Given the description of an element on the screen output the (x, y) to click on. 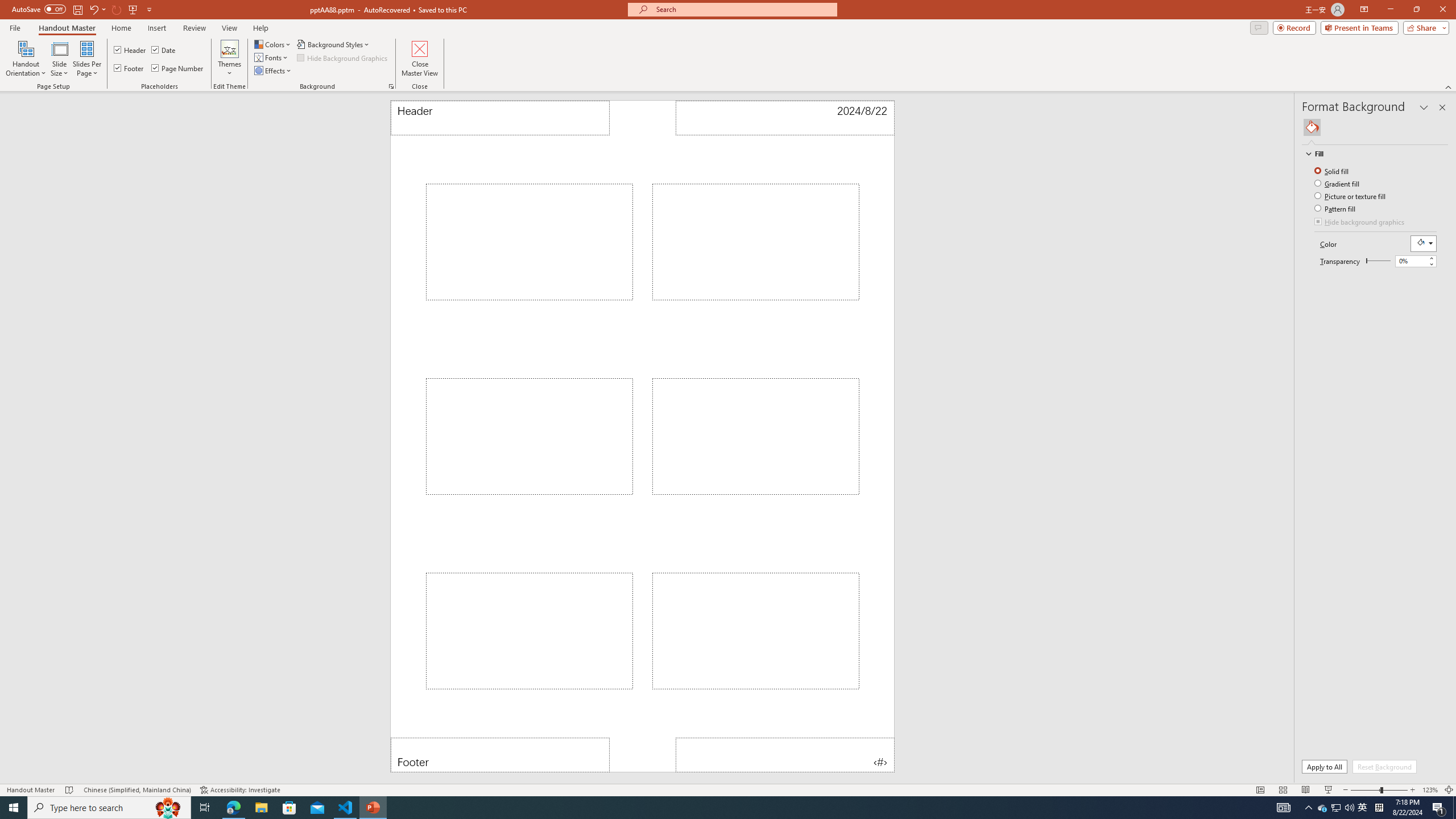
Page right (1379, 260)
Header (500, 117)
Hide background graphics (1360, 222)
Fill (1370, 153)
Format Background... (391, 85)
Class: NetUIScrollBar (1443, 451)
Fill (1311, 126)
Date (784, 117)
